Given the description of an element on the screen output the (x, y) to click on. 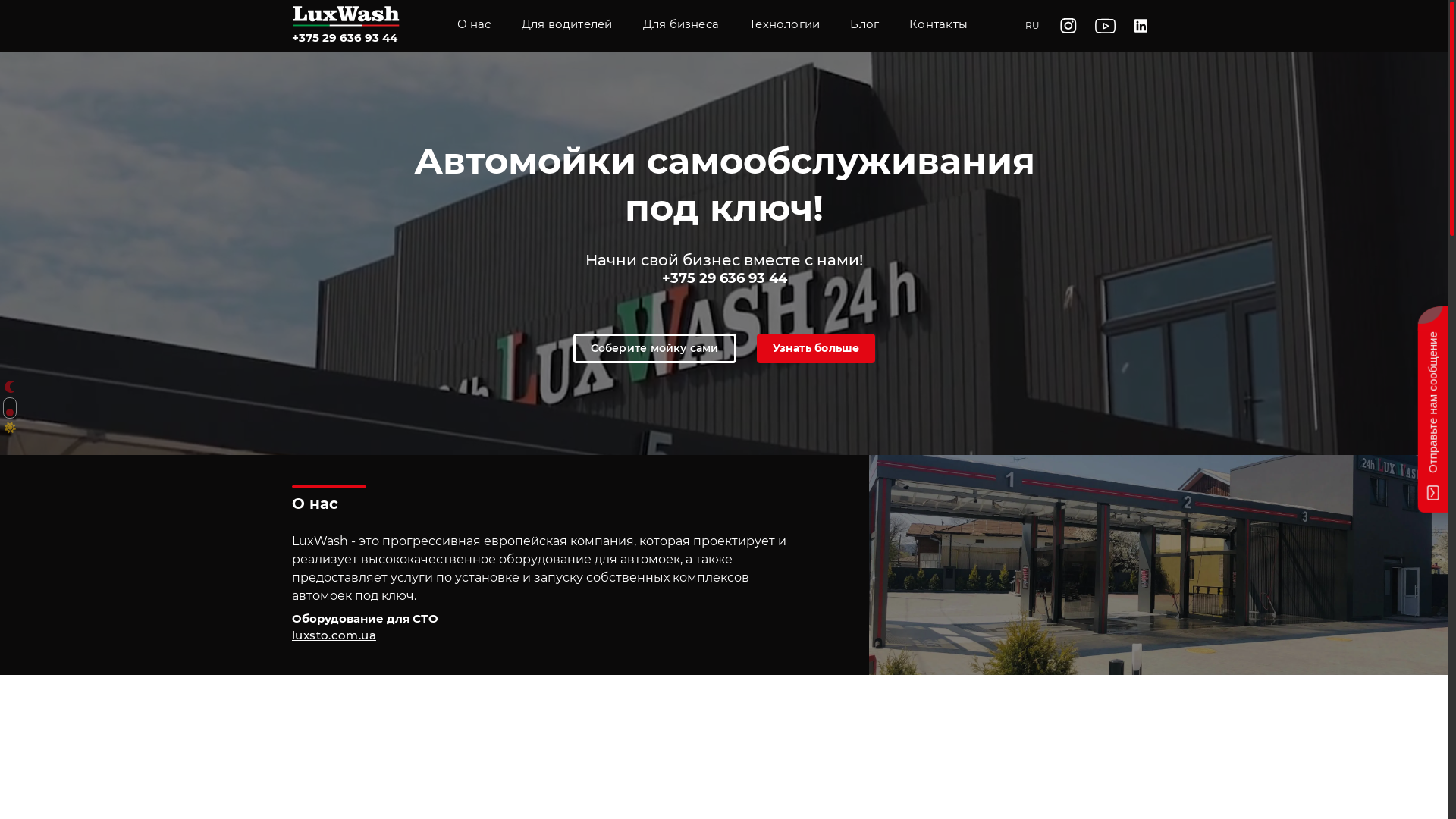
RU Element type: text (1032, 25)
+375 29 636 93 44 Element type: text (723, 277)
+375 29 636 93 44 Element type: text (345, 38)
luxsto.com.ua Element type: text (333, 634)
